Given the description of an element on the screen output the (x, y) to click on. 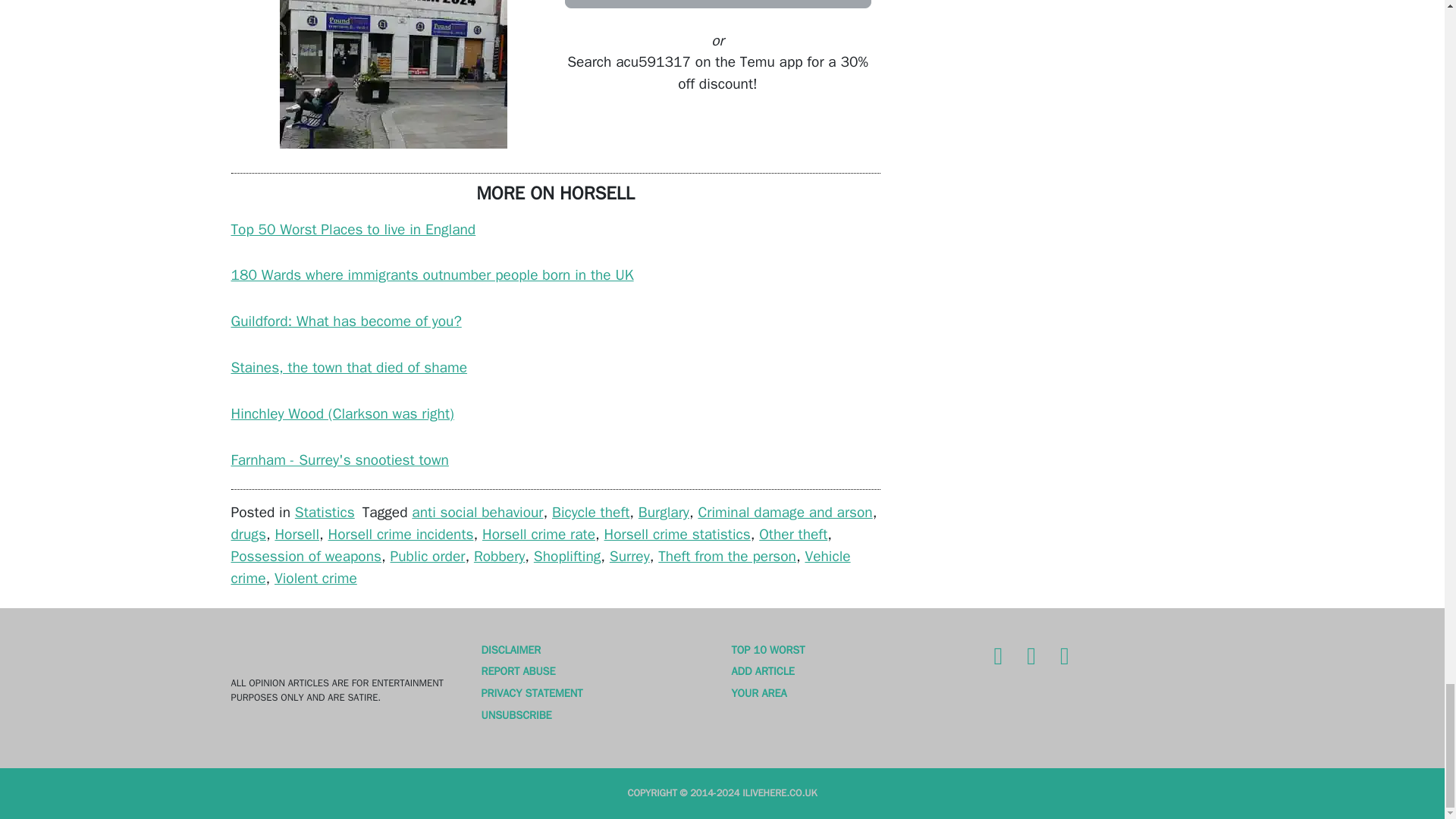
Bicycle theft (589, 512)
Guildford: What has become of you? (345, 321)
Burglary (663, 512)
Farnham - Surrey's snootiest town (339, 460)
Horsell crime incidents (401, 534)
Horsell crime rate (538, 534)
anti social behaviour (477, 512)
180 Wards where immigrants outnumber people born in the UK (431, 275)
Top 50 Worst Places to live in England (353, 229)
Horsell (296, 534)
Statistics (325, 512)
drugs (247, 534)
Horsell crime statistics (677, 534)
Criminal damage and arson (784, 512)
Staines, the town that died of shame (348, 367)
